Given the description of an element on the screen output the (x, y) to click on. 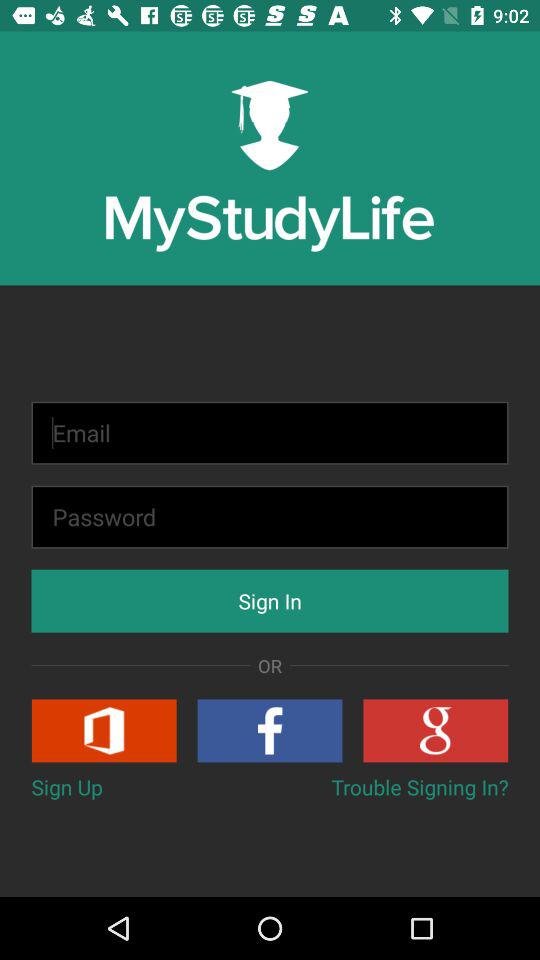
open button next to the sign up button (419, 786)
